Given the description of an element on the screen output the (x, y) to click on. 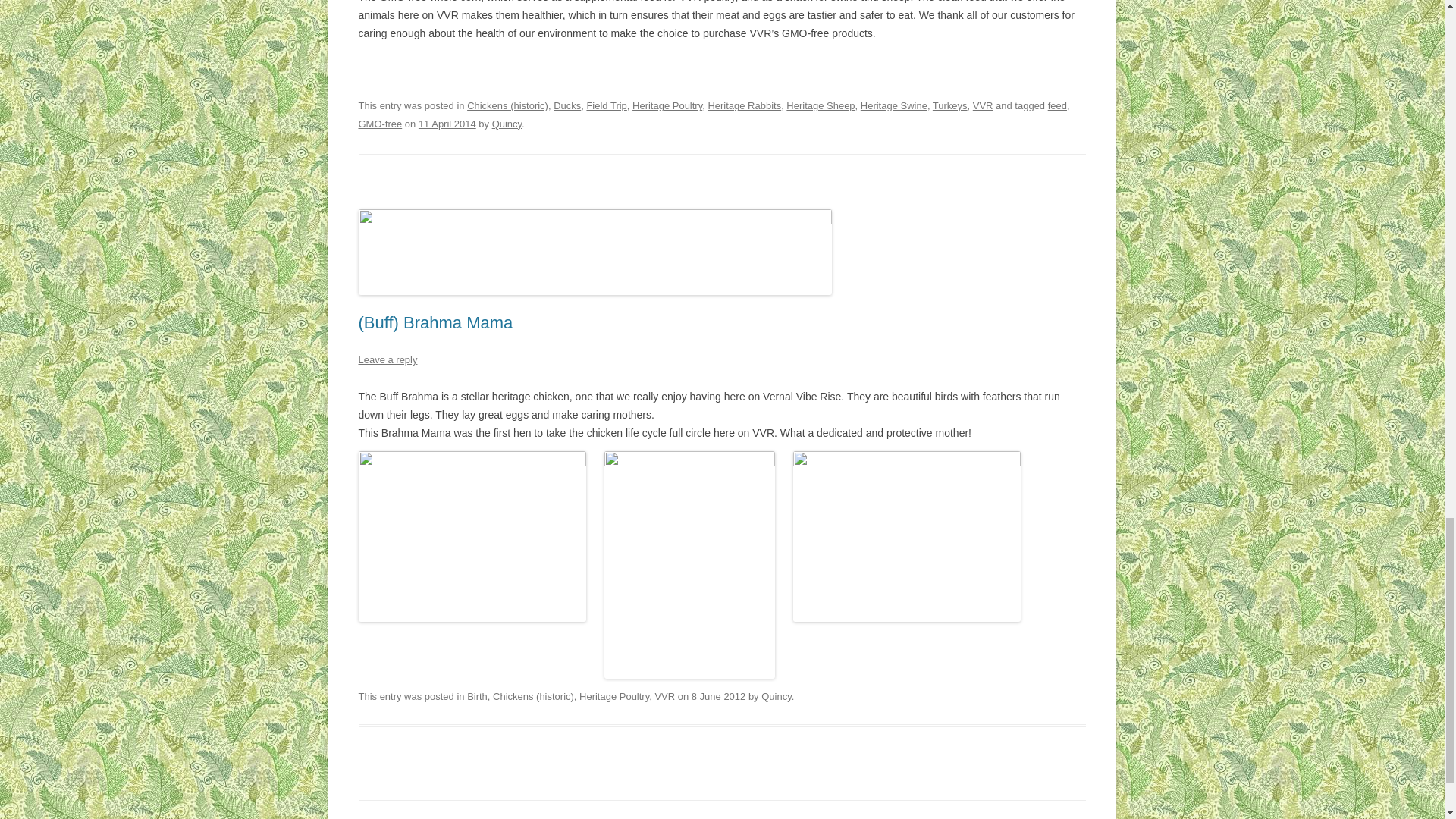
Field Trip (606, 105)
10:21 AM (718, 696)
Heritage Poultry (666, 105)
View all posts by Quincy (506, 123)
Ducks (566, 105)
View all posts by Quincy (775, 696)
2:26 PM (447, 123)
